Given the description of an element on the screen output the (x, y) to click on. 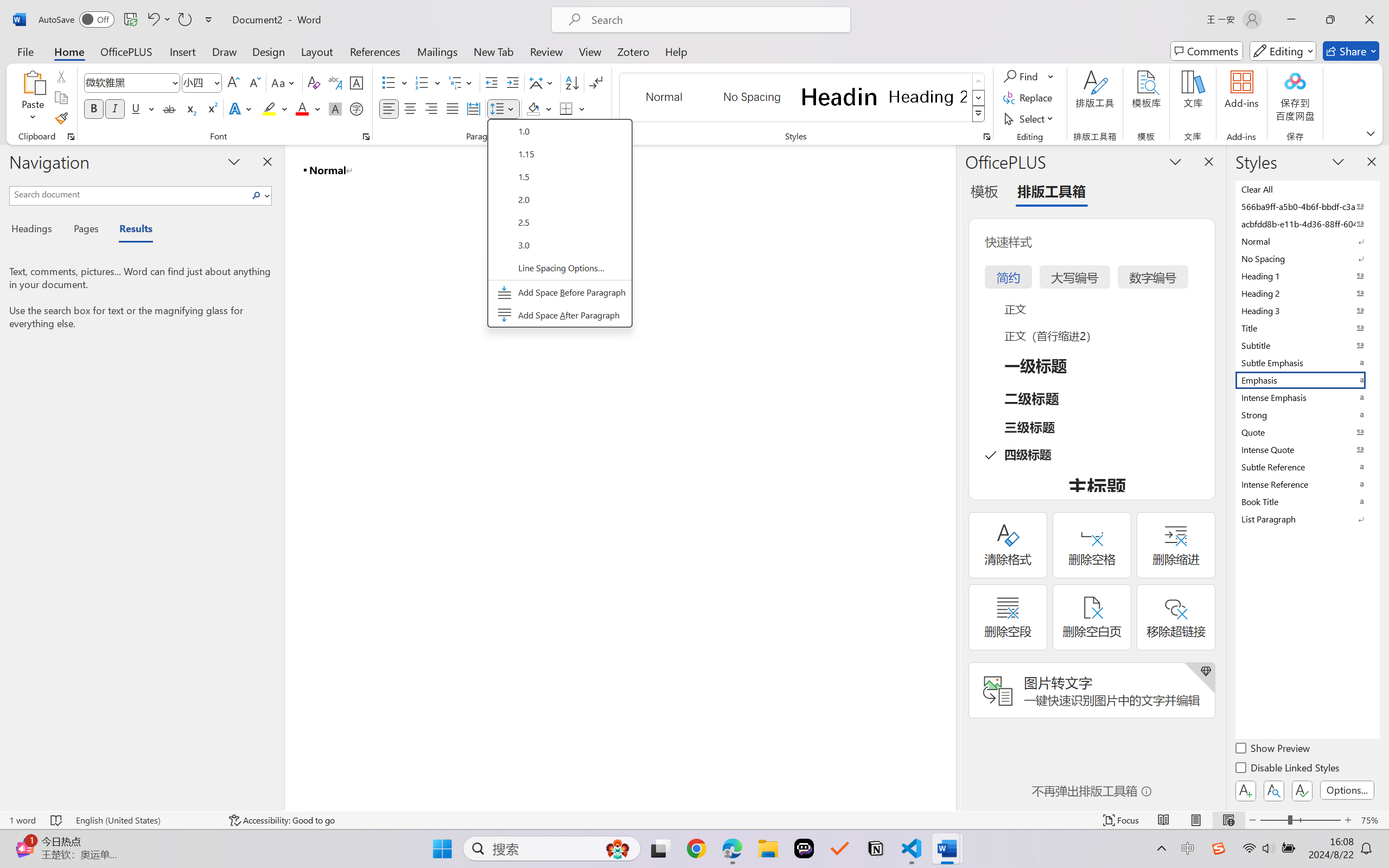
Paste (33, 97)
Decrease Indent (491, 82)
Results (130, 229)
Heading 2 (927, 96)
Subtle Emphasis (1306, 362)
New Tab (493, 51)
References (375, 51)
Intense Quote (1306, 449)
Intense Reference (1306, 484)
Increase Indent (512, 82)
Line and Paragraph Spacing (503, 108)
Save (130, 19)
